Given the description of an element on the screen output the (x, y) to click on. 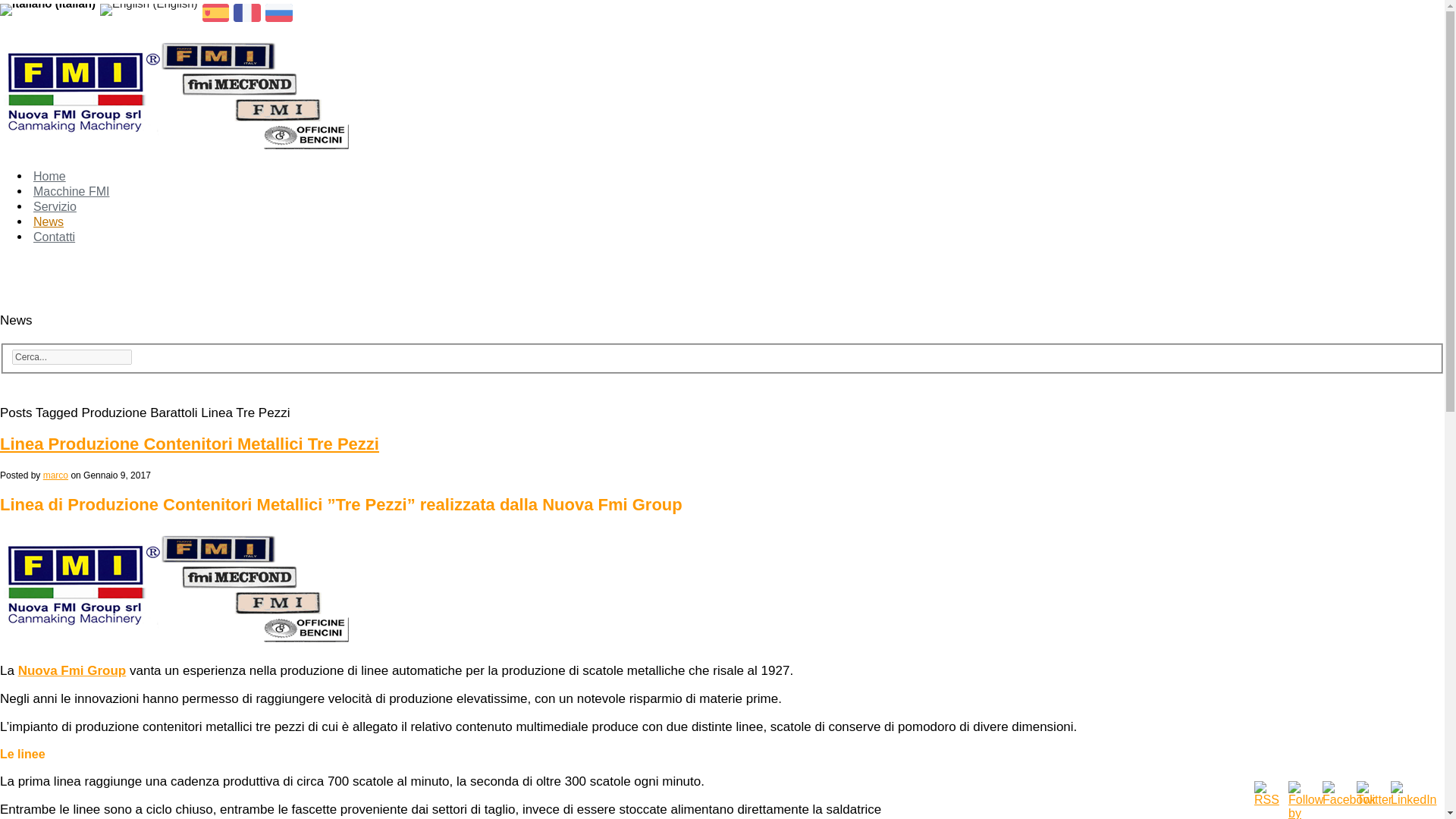
Contatti (54, 236)
Facebook (1348, 793)
Linea Produzione Contenitori Metallici Tre Pezzi (189, 443)
News (48, 221)
Home (49, 176)
Twitter (1373, 793)
Servizio (55, 206)
Nuova Fmi Group (71, 670)
Follow by Email (1305, 800)
Linea Produzione Contenitori Metallici Tre Pezzi (189, 443)
marco (55, 475)
Articoli scritti da marco (55, 475)
Cerca... (71, 356)
Macchine FMI (71, 190)
LinkedIn (1413, 793)
